Given the description of an element on the screen output the (x, y) to click on. 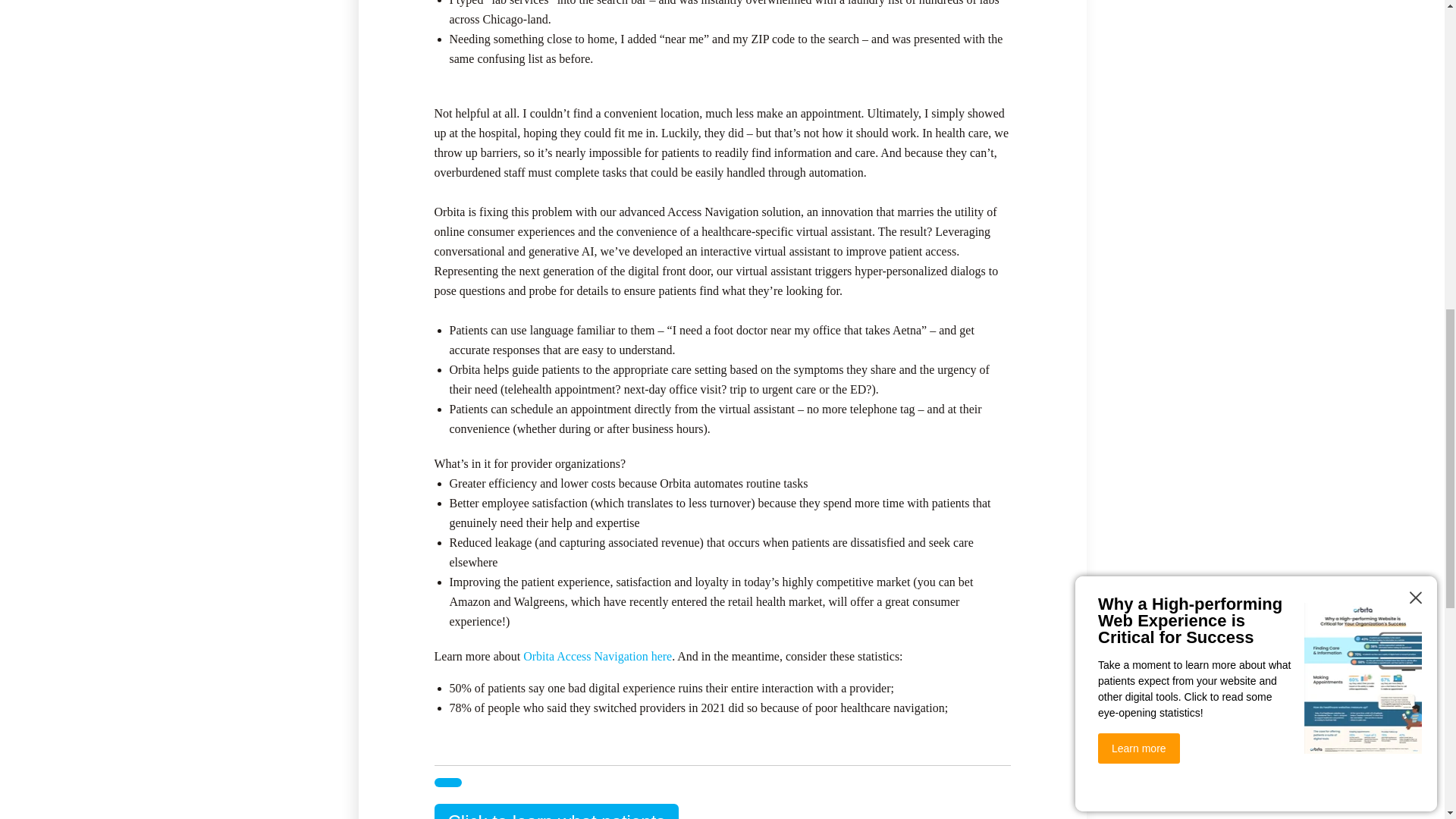
Click to learn what patients  expect from digital tools (447, 782)
Click to learn what patients  expect from digital tools (555, 811)
Orbita Access Navigation here (555, 811)
